Given the description of an element on the screen output the (x, y) to click on. 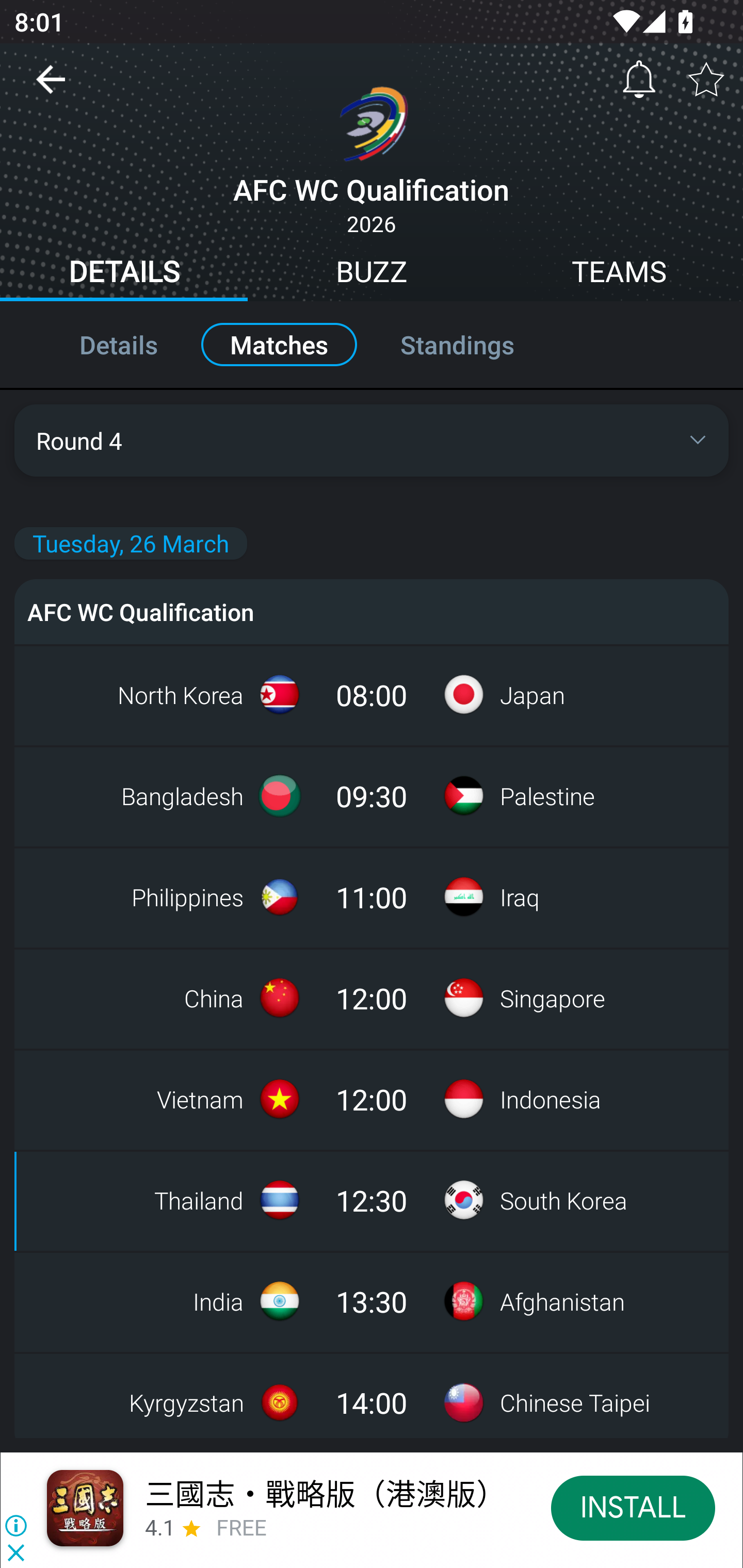
Navigate up (50, 86)
DETAILS (123, 274)
BUZZ (371, 274)
TEAMS (619, 274)
Details (96, 344)
Standings (478, 344)
Round 4 (371, 440)
AFC WC Qualification (371, 611)
North Korea 08:00 Japan (371, 694)
Bangladesh 09:30 Palestine (371, 795)
Philippines 11:00 Iraq (371, 896)
China 12:00 Singapore (371, 997)
Vietnam 12:00 Indonesia (371, 1098)
Thailand 12:30 South Korea (371, 1200)
India 13:30 Afghanistan (371, 1301)
Kyrgyzstan 14:00 Chinese Taipei (371, 1394)
三國志・戰略版（港澳版） (324, 1493)
INSTALL (632, 1507)
4.1 (158, 1527)
